Given the description of an element on the screen output the (x, y) to click on. 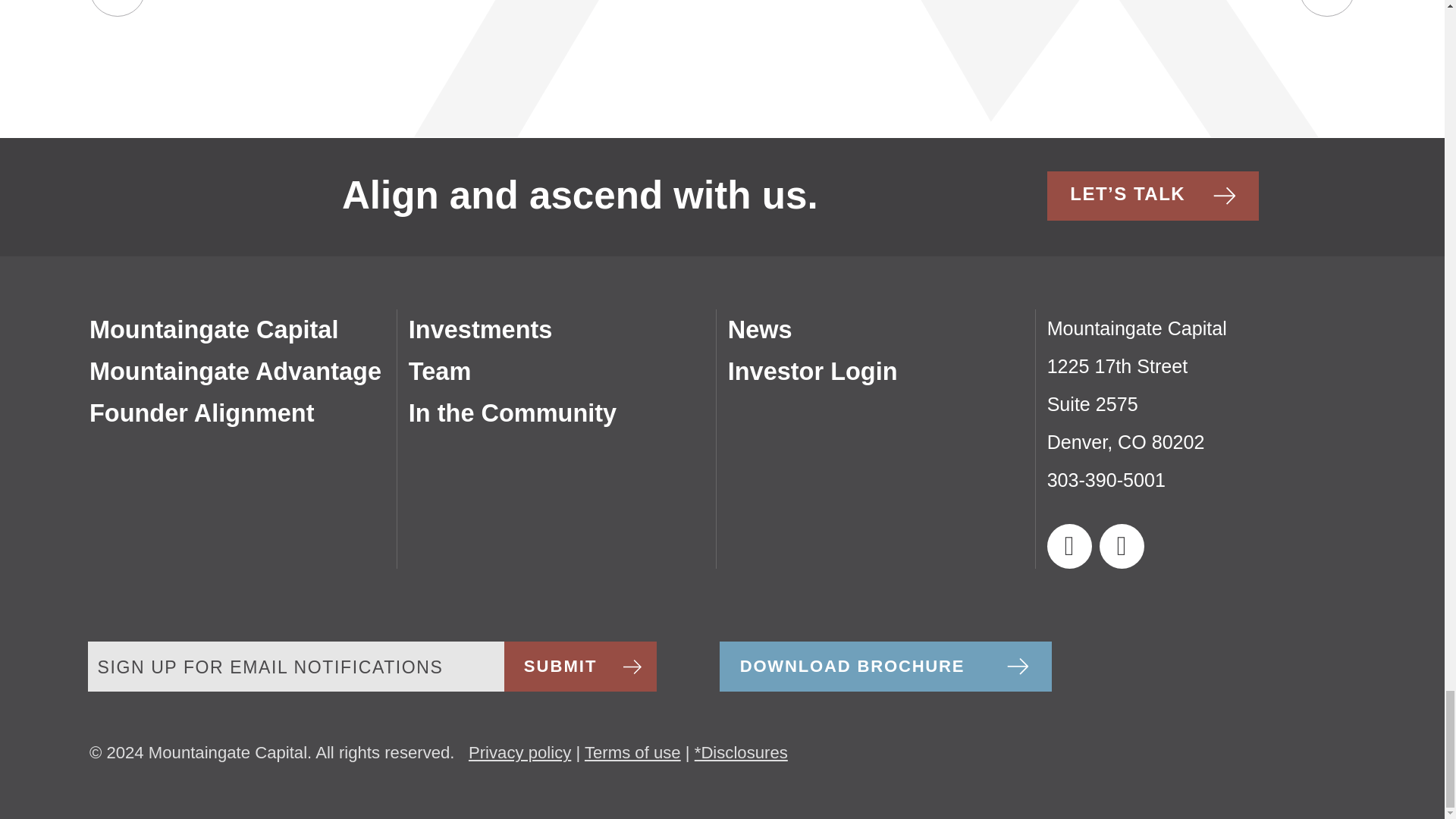
SUBMIT (580, 666)
Privacy policy (519, 752)
News (760, 329)
Investor Login (813, 370)
Terms of use (633, 752)
DOWNLOAD BROCHURE (885, 666)
Founder Alignment (1125, 403)
Investments (201, 412)
In the Community (481, 329)
Team (512, 412)
Mountaingate Advantage (439, 370)
303-390-5001 (234, 370)
Mountaingate Capital (1106, 479)
